Given the description of an element on the screen output the (x, y) to click on. 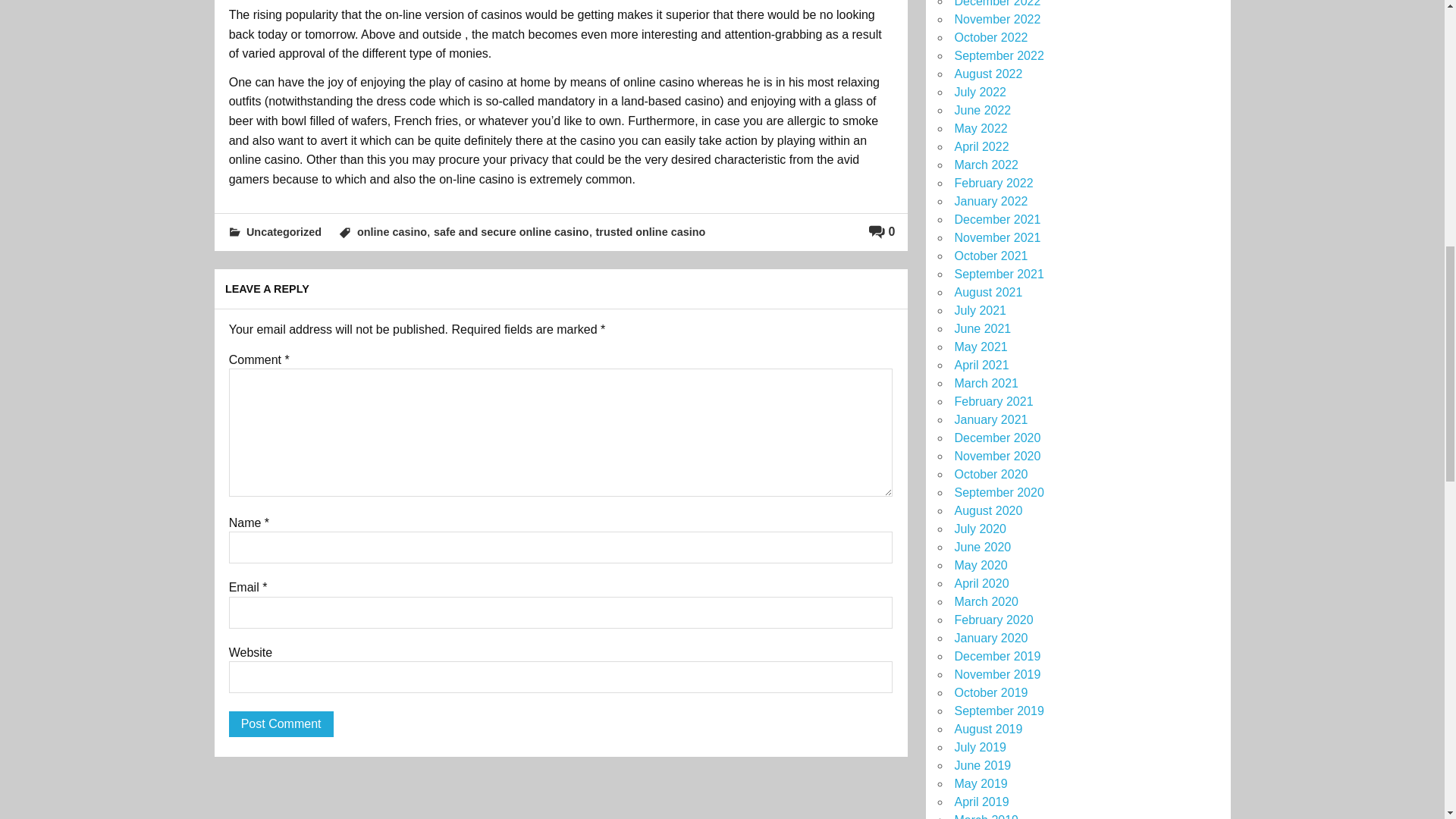
safe and secure online casino (511, 232)
Post Comment (280, 724)
0 (882, 231)
trusted online casino (650, 232)
Post Comment (280, 724)
online casino (391, 232)
Uncategorized (283, 232)
